Given the description of an element on the screen output the (x, y) to click on. 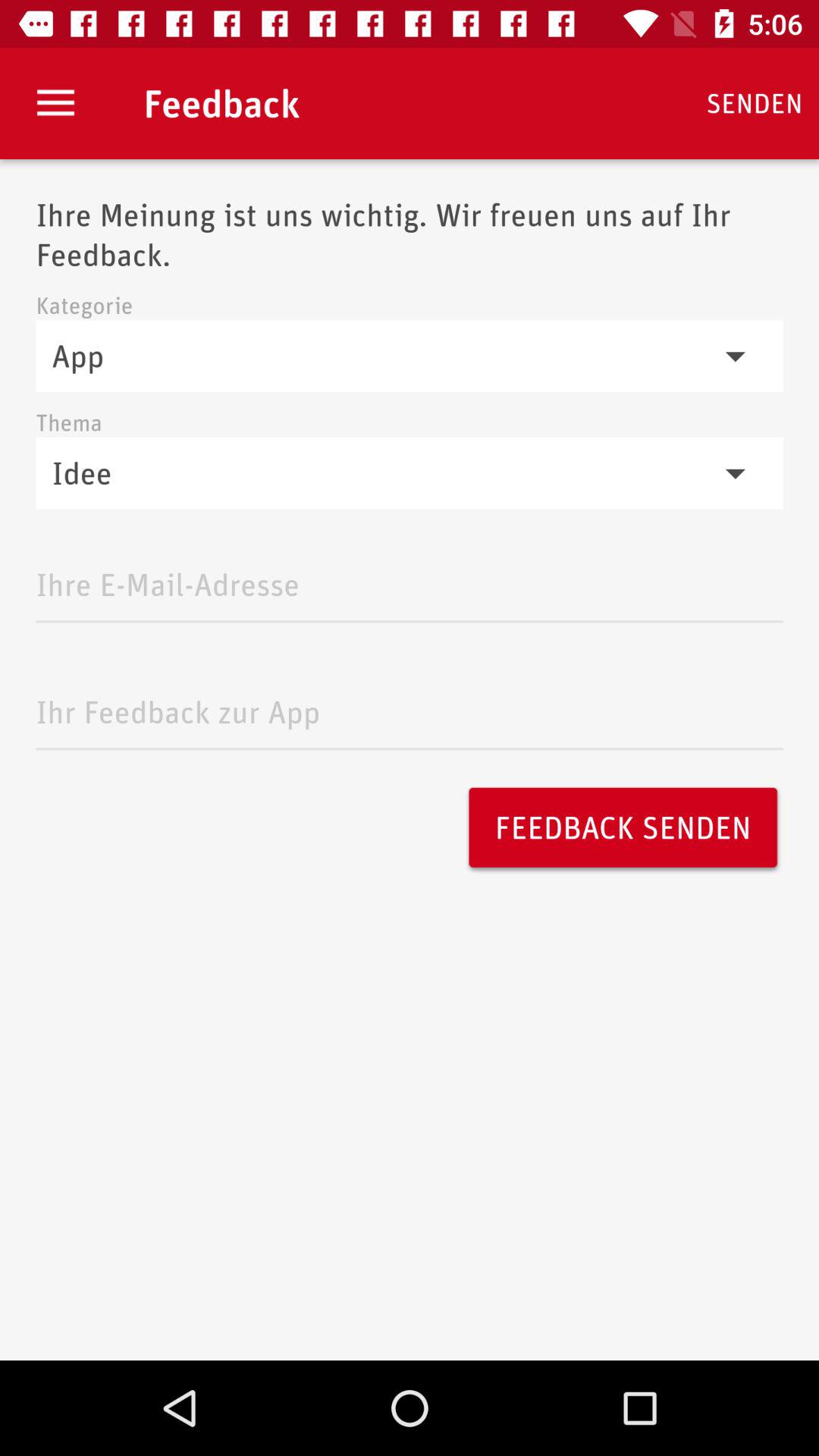
enter email address (409, 580)
